Given the description of an element on the screen output the (x, y) to click on. 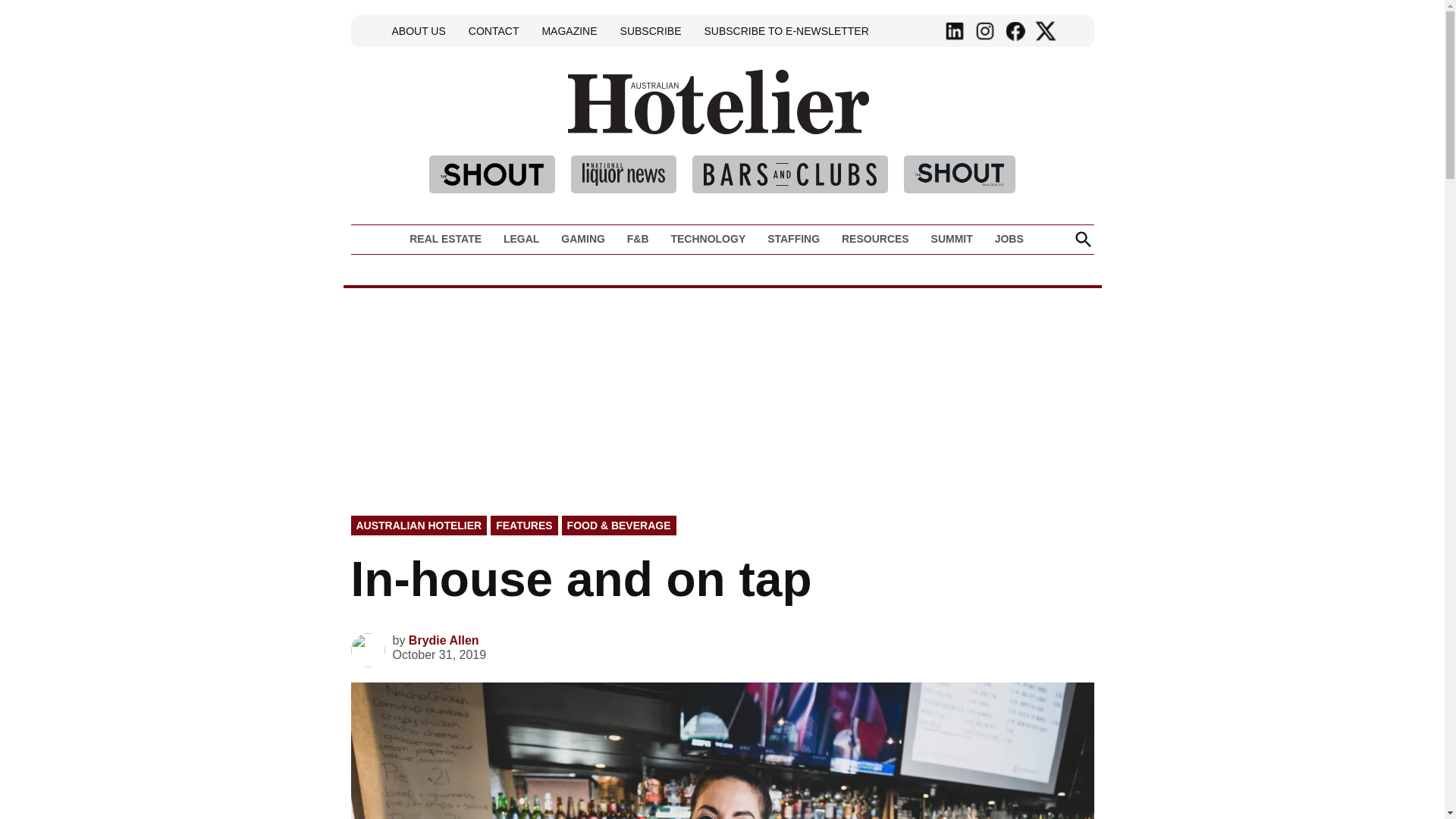
CONTACT (493, 30)
SUBSCRIBE (650, 30)
MAGAZINE (568, 30)
Facebook (1015, 31)
Twitter (1045, 31)
Australian Hotelier (920, 124)
Instagram (984, 31)
Linkedin (954, 31)
SUBSCRIBE TO E-NEWSLETTER (786, 30)
